Given the description of an element on the screen output the (x, y) to click on. 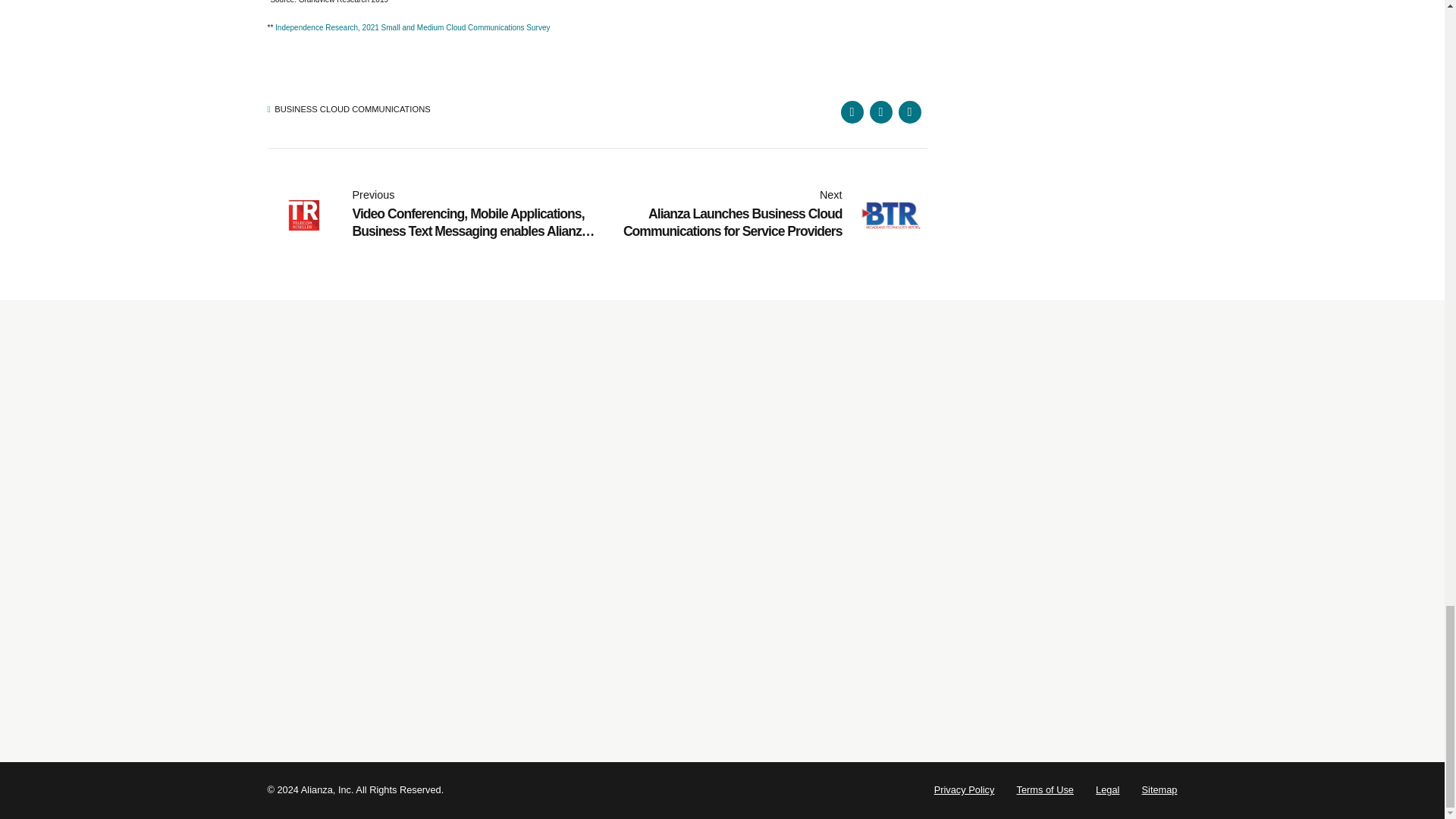
Share on Facebook (851, 111)
Share on Linkedin (909, 111)
Share on Twitter (880, 111)
